Given the description of an element on the screen output the (x, y) to click on. 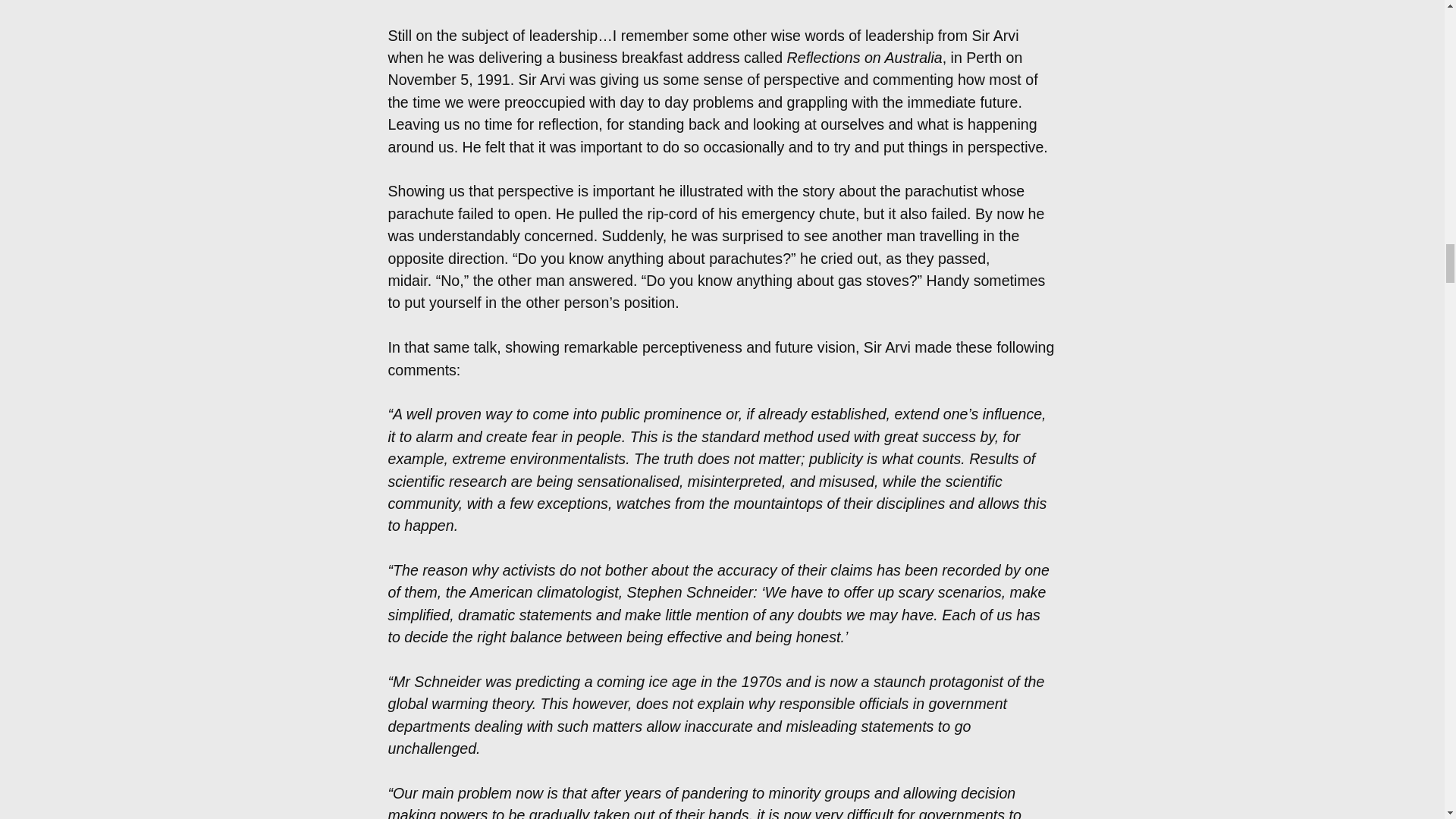
Page 7 (722, 800)
